Given the description of an element on the screen output the (x, y) to click on. 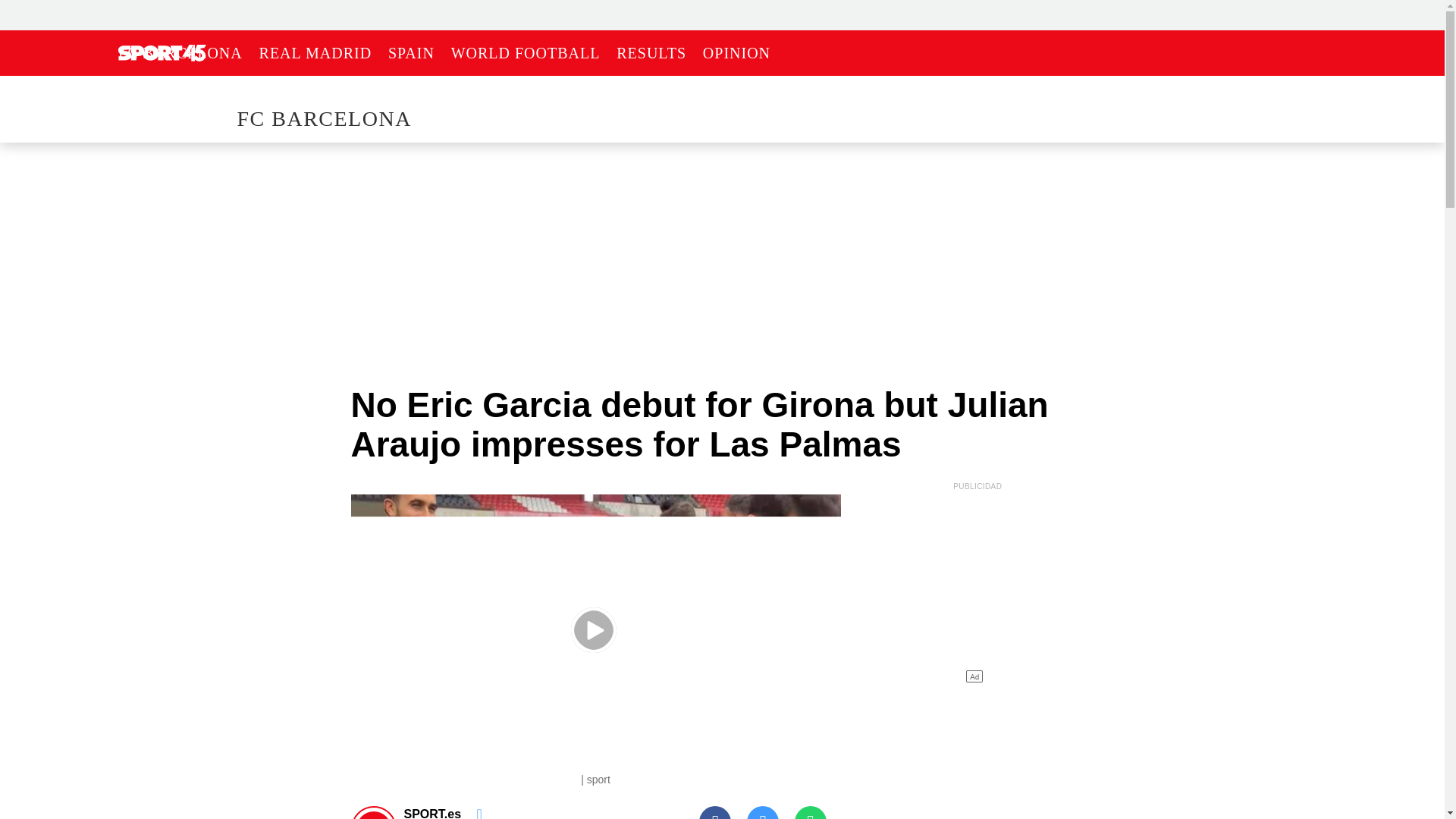
SPORT.es (373, 815)
Twitter (762, 812)
FC BARCELONA (322, 118)
REAL MADRID (315, 53)
RESULTS (650, 53)
FC BARCELONA (180, 53)
Opinion (736, 53)
sport (163, 53)
OPINION (736, 53)
FC Barcelona (322, 118)
